Given the description of an element on the screen output the (x, y) to click on. 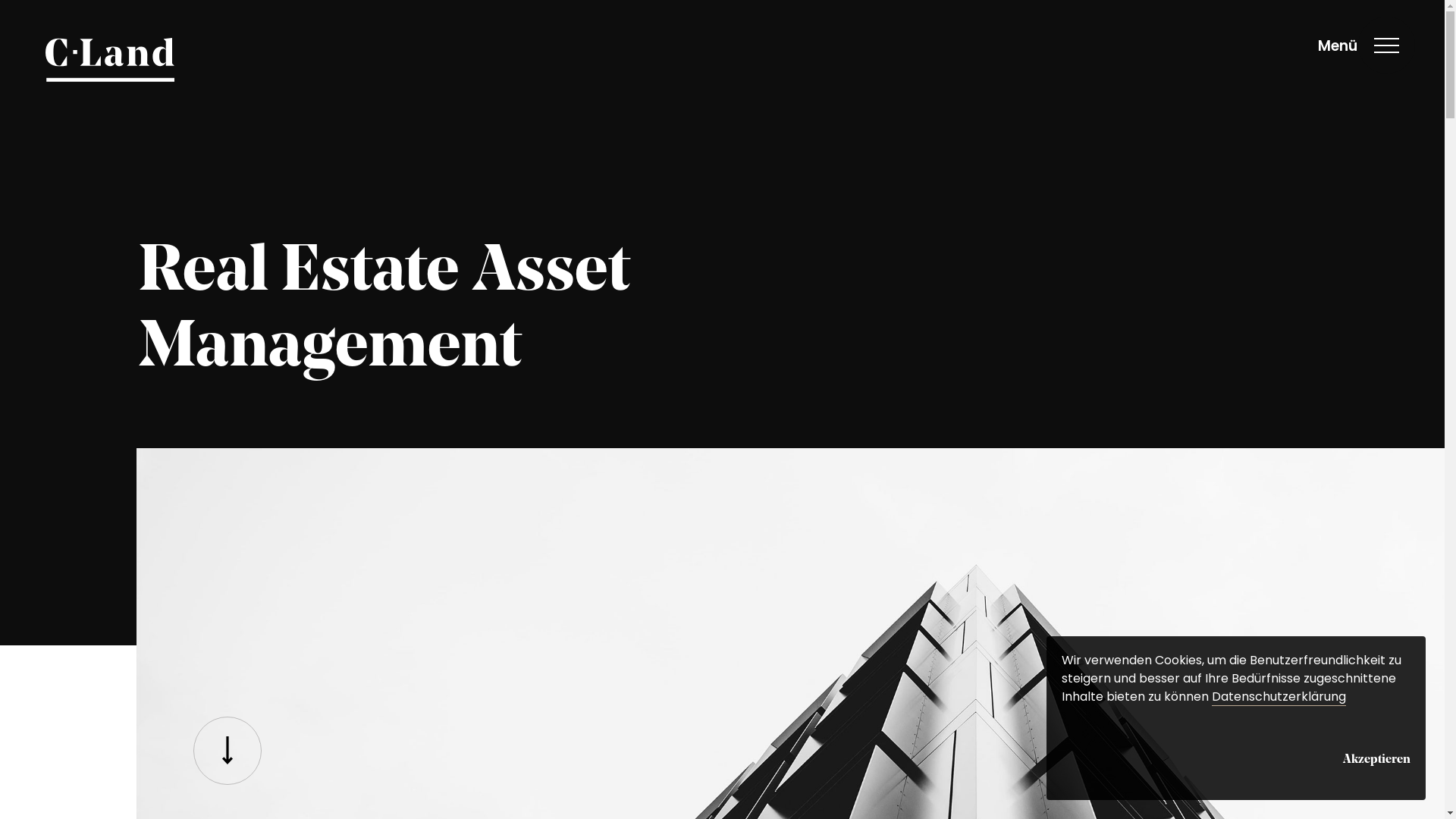
Akzeptieren Element type: text (1376, 756)
